Given the description of an element on the screen output the (x, y) to click on. 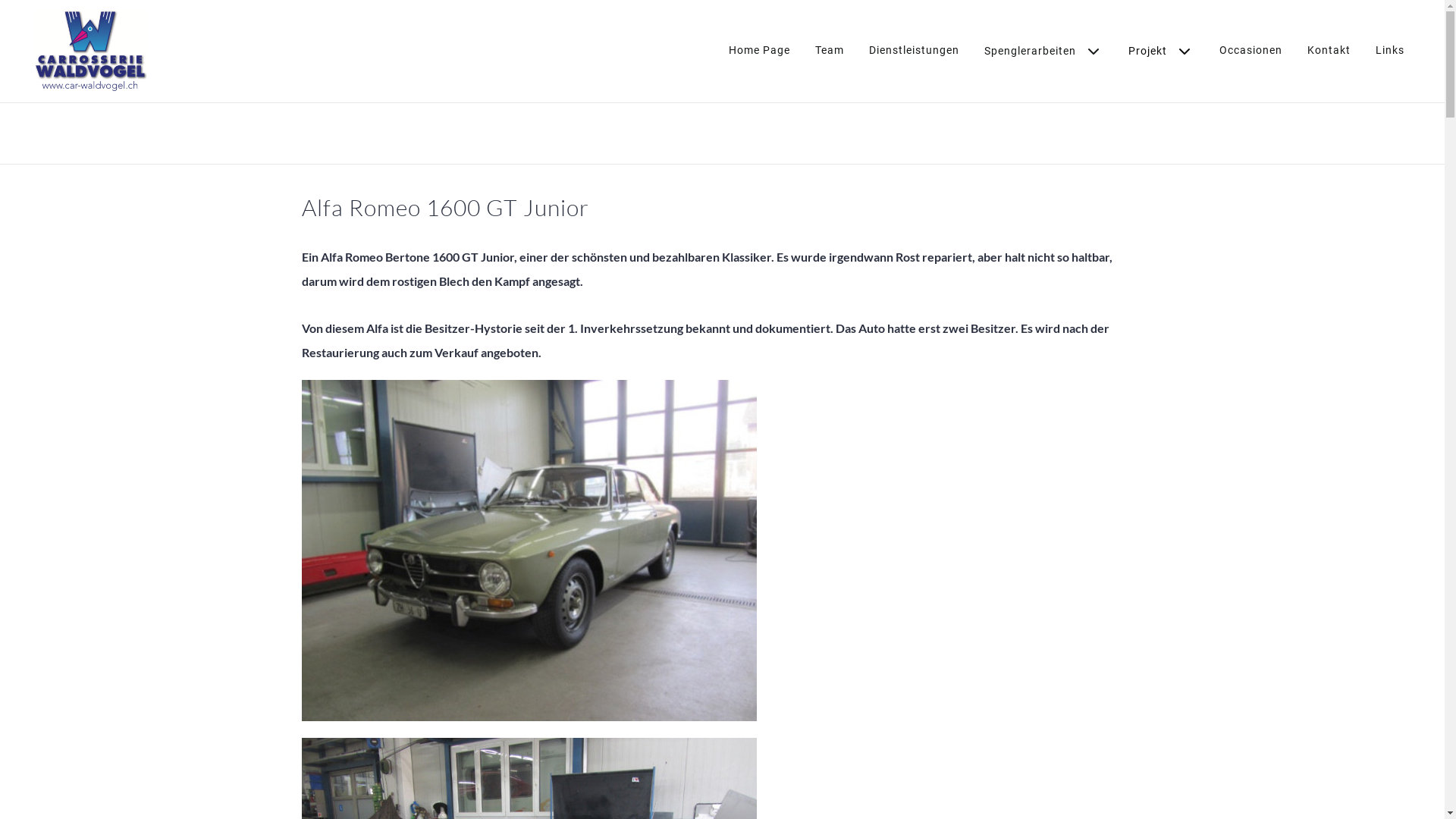
Occasionen Element type: text (1250, 49)
Dienstleistungen Element type: text (913, 49)
Team Element type: text (829, 49)
Kontakt Element type: text (1328, 49)
Home Page Element type: text (759, 49)
Links Element type: text (1389, 49)
logo Element type: hover (89, 50)
